Given the description of an element on the screen output the (x, y) to click on. 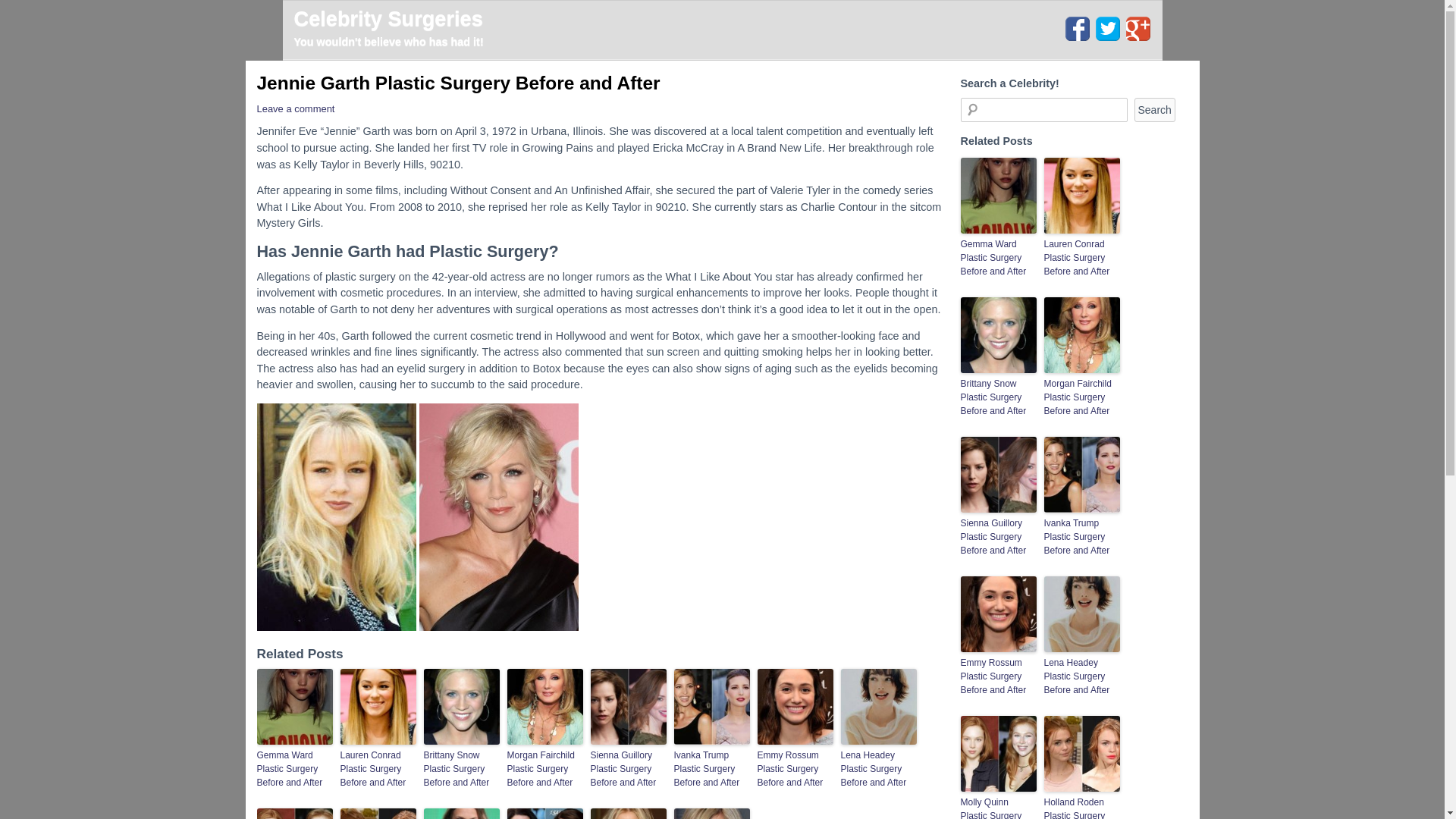
Lena Headey Plastic Surgery Before and After (877, 768)
Celebrity Surgeries (388, 18)
Search (1154, 109)
Brittany Snow Plastic Surgery Before and After (461, 768)
Sienna Guillory Plastic Surgery Before and After (627, 768)
Lauren Conrad Plastic Surgery Before and After (376, 768)
Jennie Garth Plastic Surgery Before and After (457, 82)
Permalink to Jennie Garth Plastic Surgery Before and After (457, 82)
Ivanka Trump Plastic Surgery Before and After (710, 768)
Gemma Ward Plastic Surgery Before and After (293, 768)
Morgan Fairchild Plastic Surgery Before and After (544, 768)
Leave a comment (295, 108)
Emmy Rossum Plastic Surgery Before and After (794, 768)
Celebrity Surgeries (388, 18)
